Given the description of an element on the screen output the (x, y) to click on. 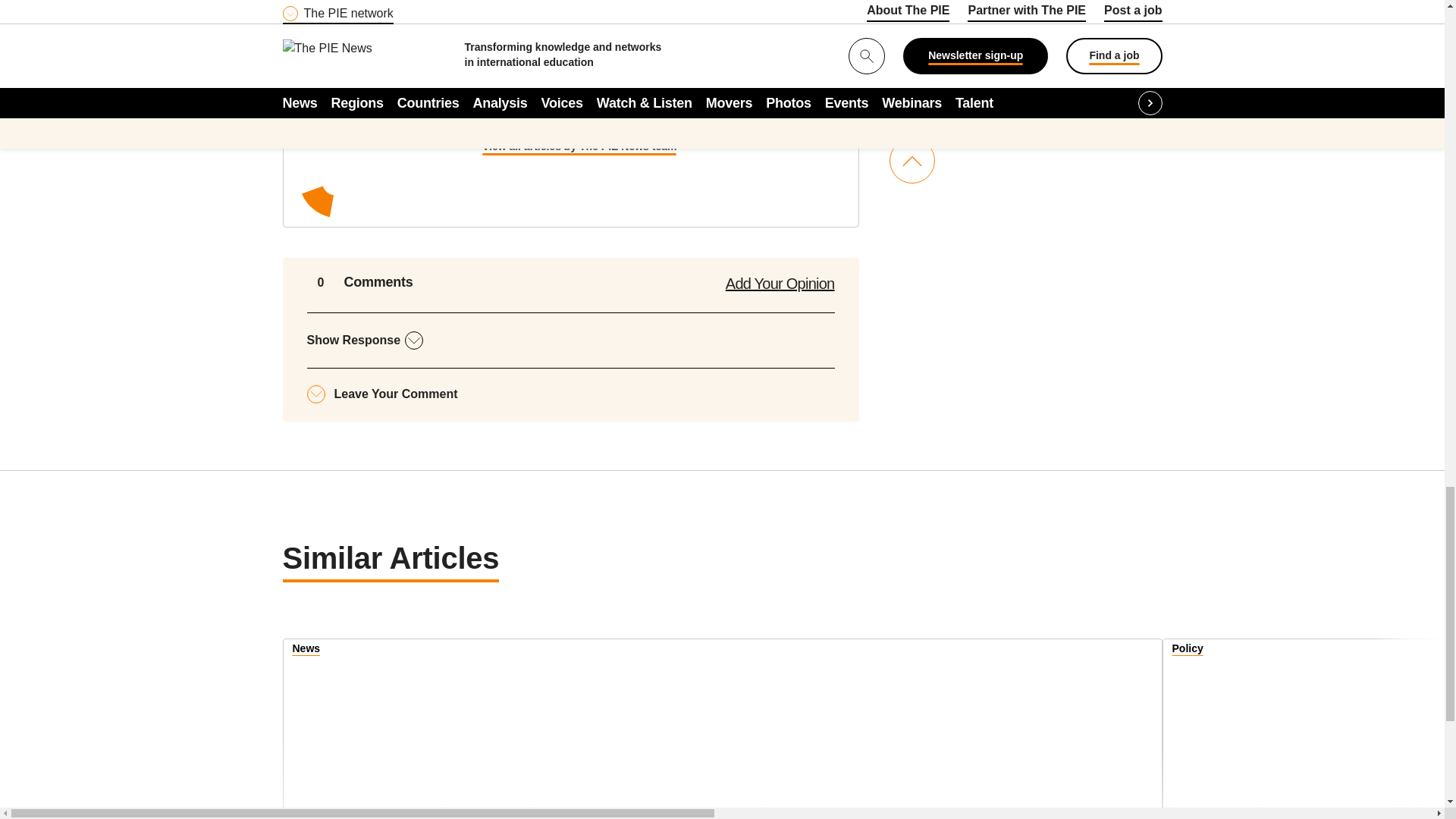
View all Policy articles (1187, 650)
View all News articles (306, 650)
US State Department seeks to cut student visa bureaucracy (1309, 729)
